Given the description of an element on the screen output the (x, y) to click on. 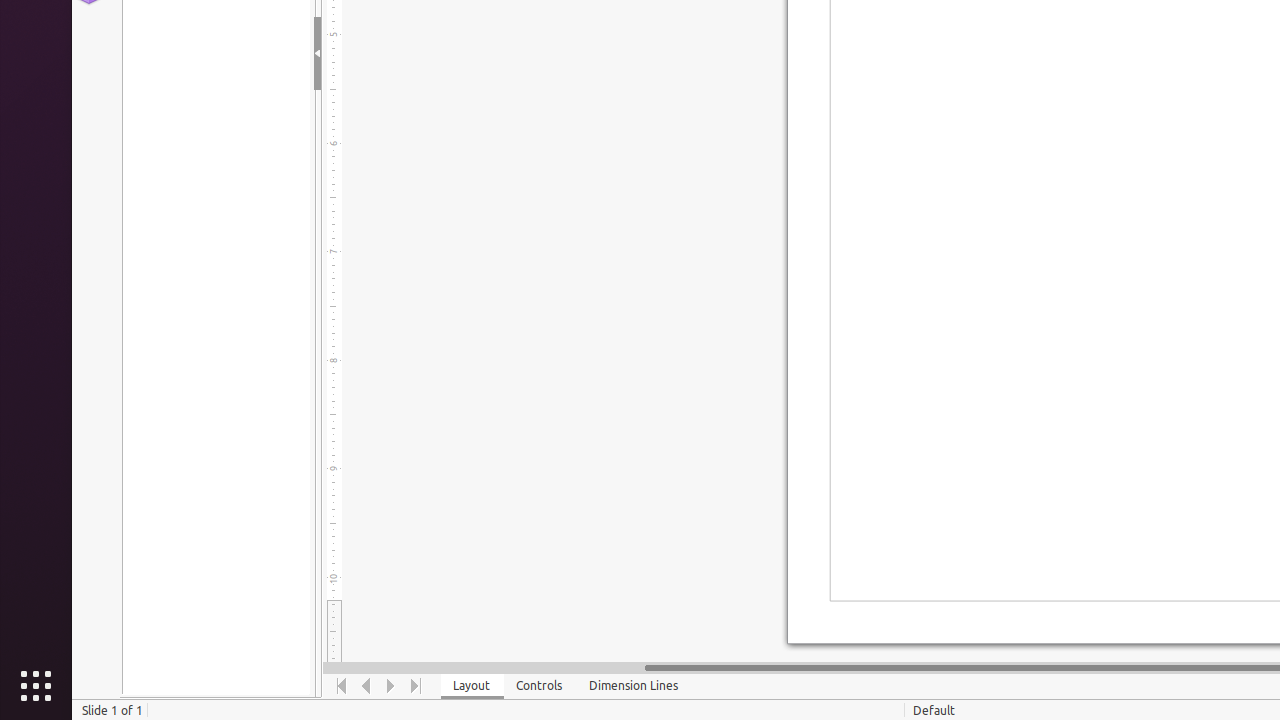
Move To Home Element type: push-button (341, 686)
Dimension Lines Element type: page-tab (634, 686)
Controls Element type: page-tab (540, 686)
